Given the description of an element on the screen output the (x, y) to click on. 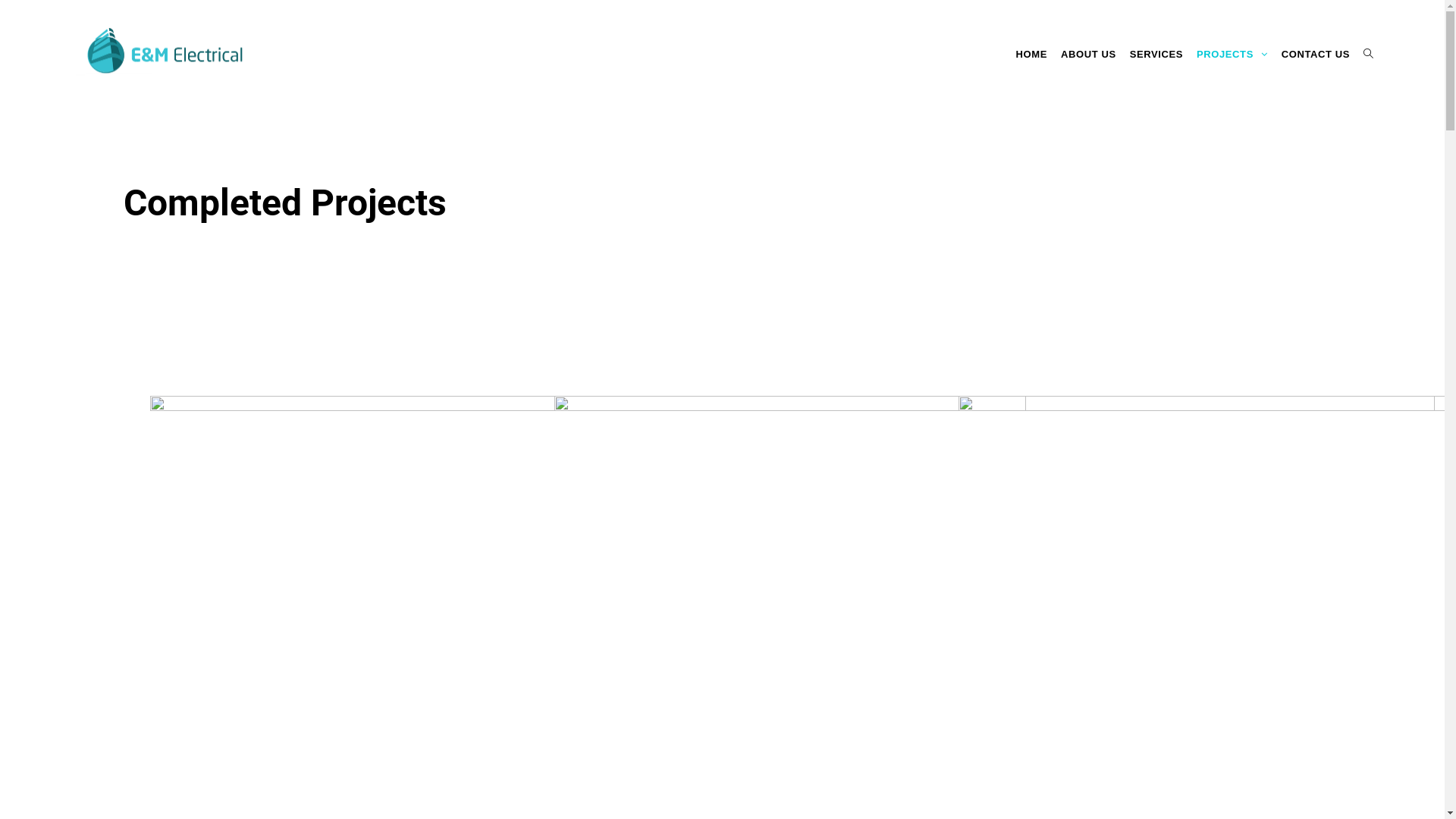
CONTACT US Element type: text (1315, 54)
ABOUT US Element type: text (1088, 54)
eoin@eandmelectrical.com.au Element type: text (515, 693)
SERVICES Element type: text (1156, 54)
www.eandmelectrical.com.au Element type: text (512, 740)
HOME Element type: text (1031, 54)
PROJECTS Element type: text (1231, 54)
